Given the description of an element on the screen output the (x, y) to click on. 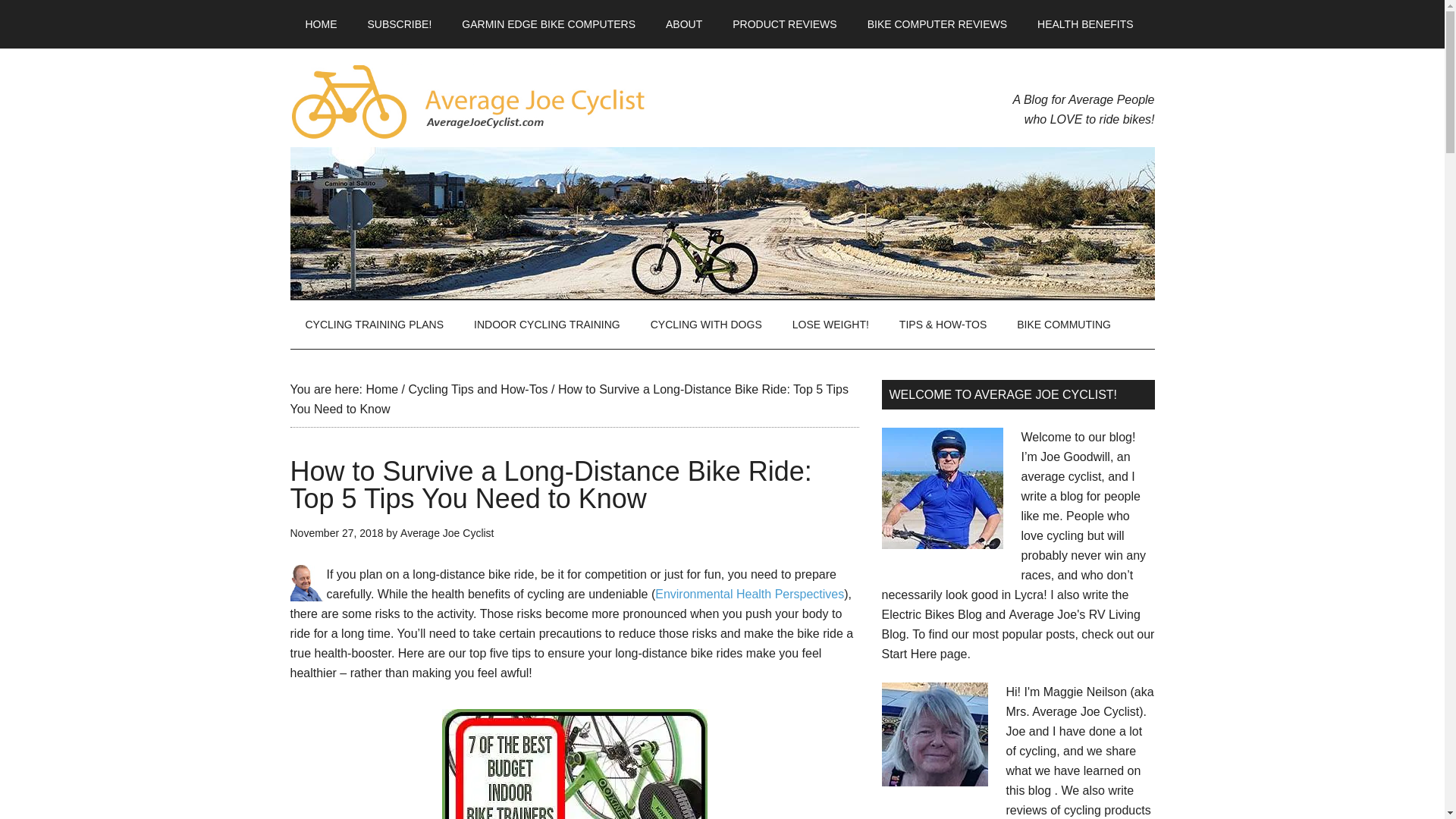
ABOUT (683, 24)
SUBSCRIBE! (399, 24)
HOME (320, 24)
PRODUCT REVIEWS (784, 24)
GARMIN EDGE BIKE COMPUTERS (548, 24)
